Given the description of an element on the screen output the (x, y) to click on. 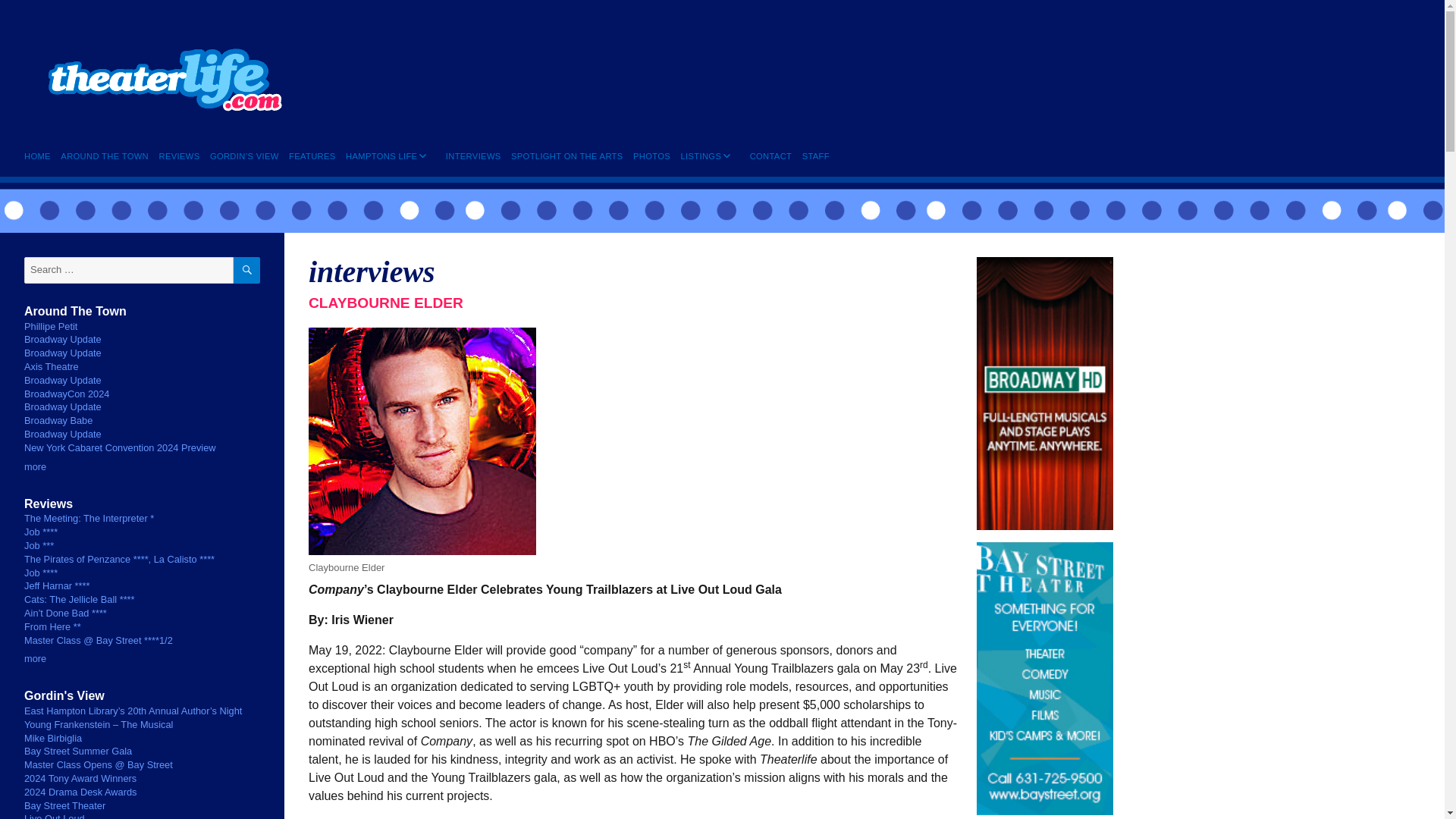
PHOTOS (651, 156)
FEATURES (311, 156)
AROUND THE TOWN (105, 156)
STAFF (815, 156)
expand child menu (725, 166)
REVIEWS (179, 156)
HAMPTONS LIFE (381, 156)
SPOTLIGHT ON THE ARTS (566, 156)
CONTACT (770, 156)
INTERVIEWS (473, 156)
